Given the description of an element on the screen output the (x, y) to click on. 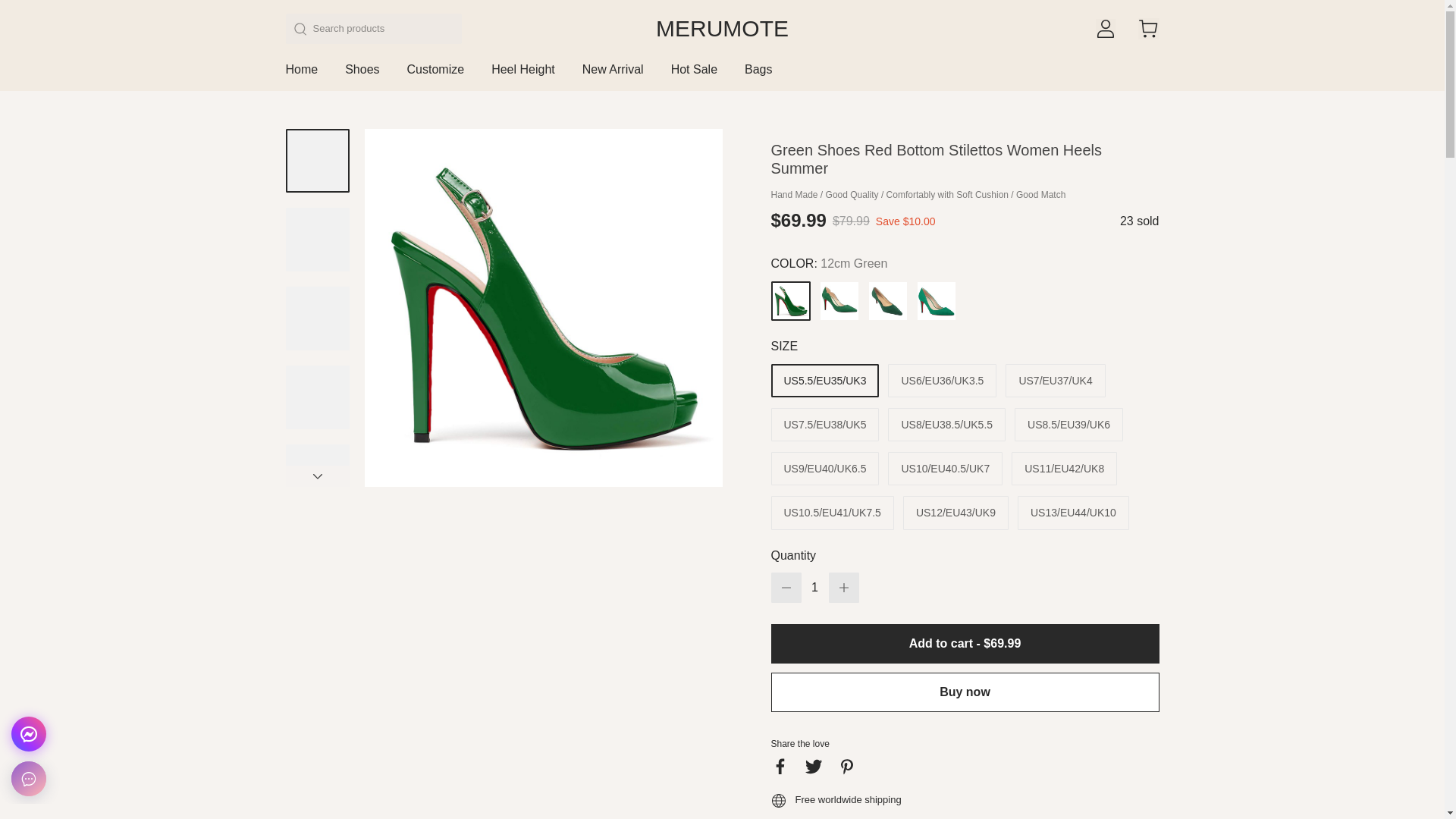
Shoes (361, 76)
1 (814, 587)
MERUMOTE (722, 28)
Home (301, 76)
